Given the description of an element on the screen output the (x, y) to click on. 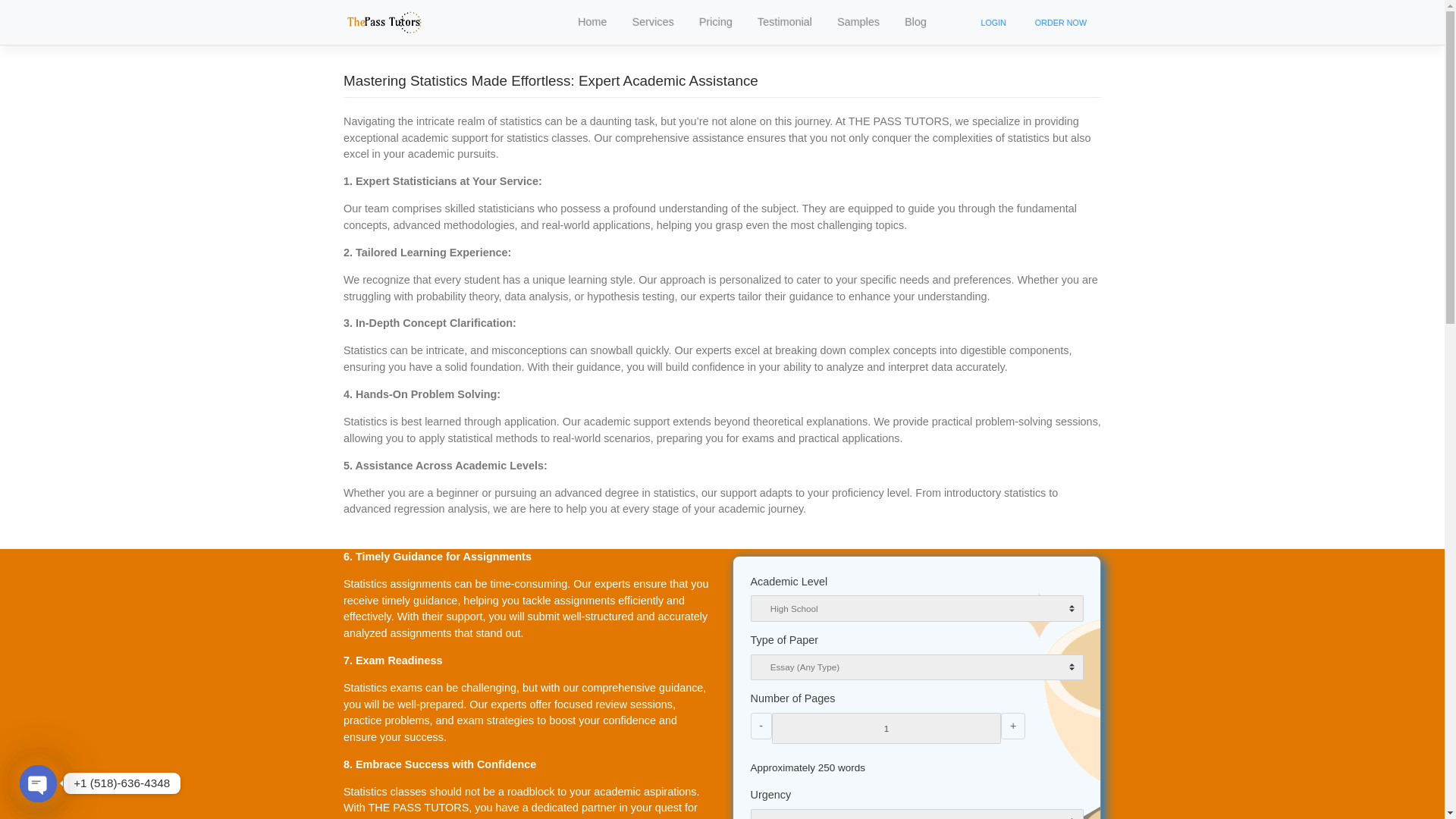
ORDER NOW (1178, 24)
Pricing (794, 24)
Blog (1016, 24)
Samples (954, 24)
Services (724, 24)
Pricing (794, 24)
Samples (954, 24)
ORDER NOW (1178, 24)
Home (658, 24)
Blog (1016, 24)
LOGIN (1103, 24)
- (844, 805)
Testimonial (871, 24)
1 (984, 805)
Services (724, 24)
